Given the description of an element on the screen output the (x, y) to click on. 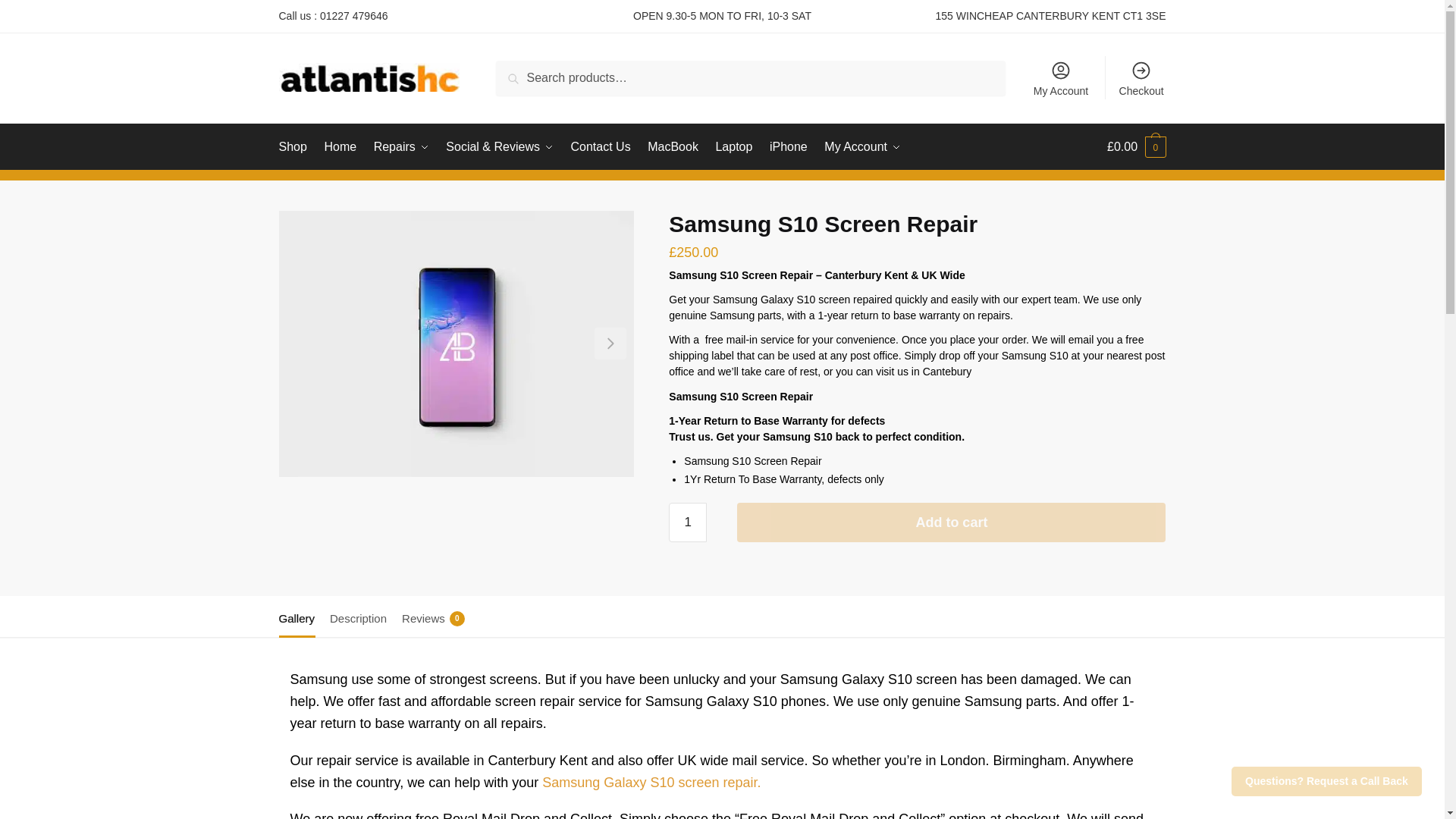
click to zoom-in (456, 343)
Contact Us (600, 146)
Repairs (400, 146)
MacBook (672, 146)
Search (519, 70)
Home (339, 146)
Checkout (1141, 77)
My Account (861, 146)
1 (687, 522)
iPhone (787, 146)
My Account (1061, 77)
Laptop (734, 146)
View your shopping cart (1136, 146)
